Given the description of an element on the screen output the (x, y) to click on. 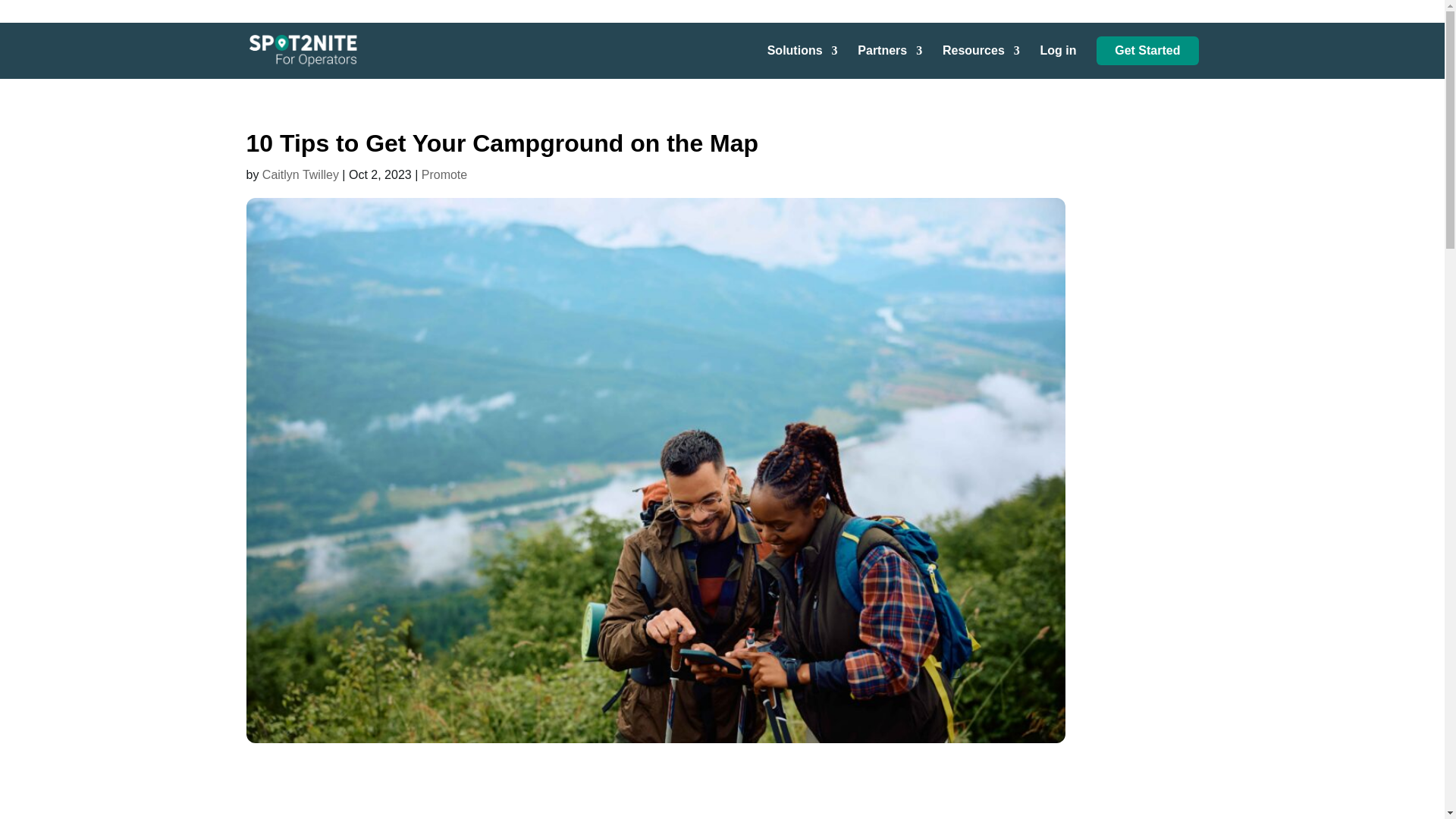
Log in (1059, 61)
Partners (889, 61)
Caitlyn Twilley (300, 174)
Posts by Caitlyn Twilley (300, 174)
Get Started (1147, 50)
Promote (444, 174)
Resources (981, 61)
Solutions (802, 61)
